Given the description of an element on the screen output the (x, y) to click on. 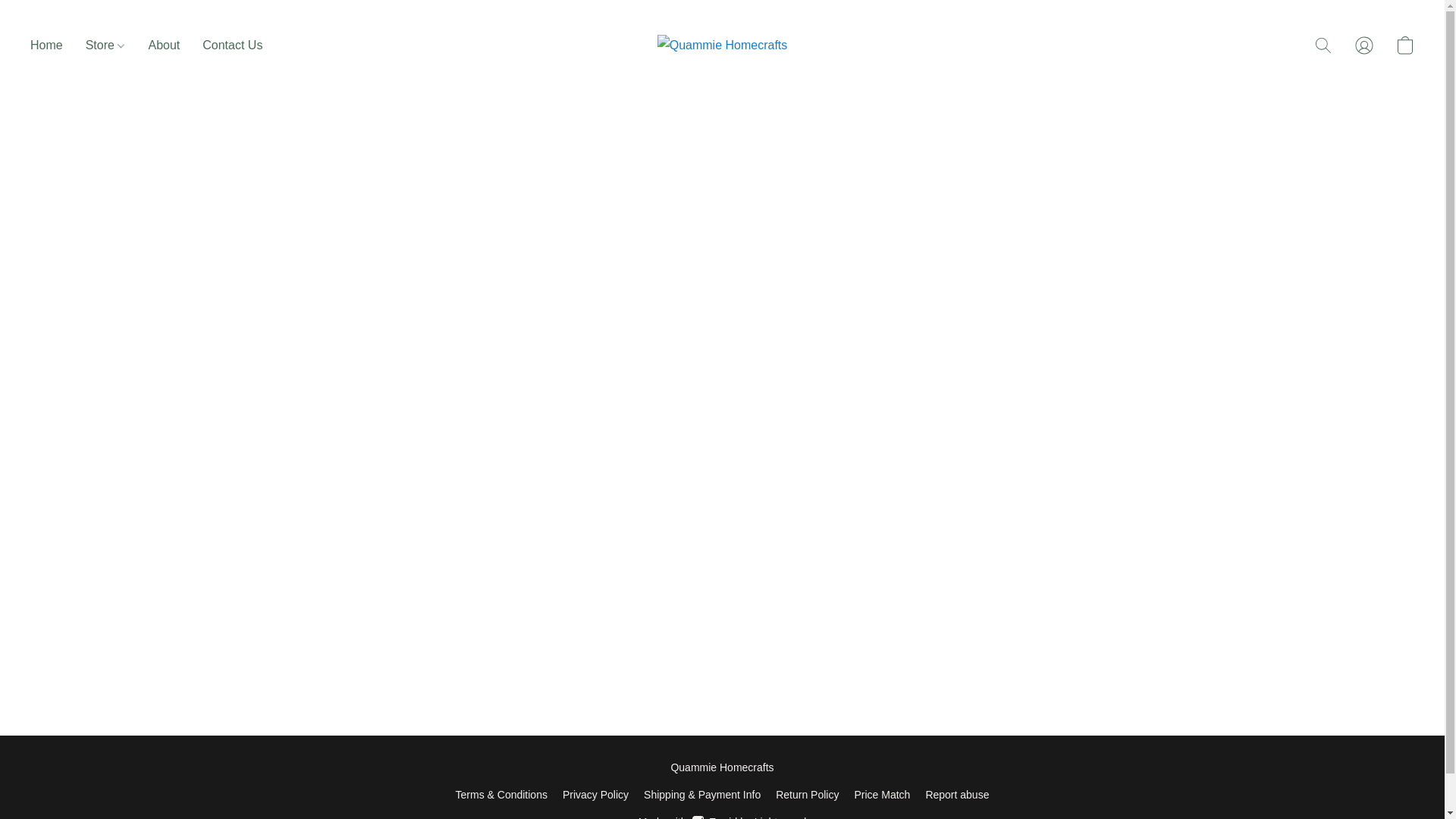
Report abuse (956, 794)
About (163, 45)
Home (52, 45)
Contact Us (226, 45)
Privacy Policy (595, 794)
Price Match (881, 794)
Search the website (1323, 45)
Store (105, 45)
Return Policy (722, 816)
Go to your shopping cart (807, 794)
